Given the description of an element on the screen output the (x, y) to click on. 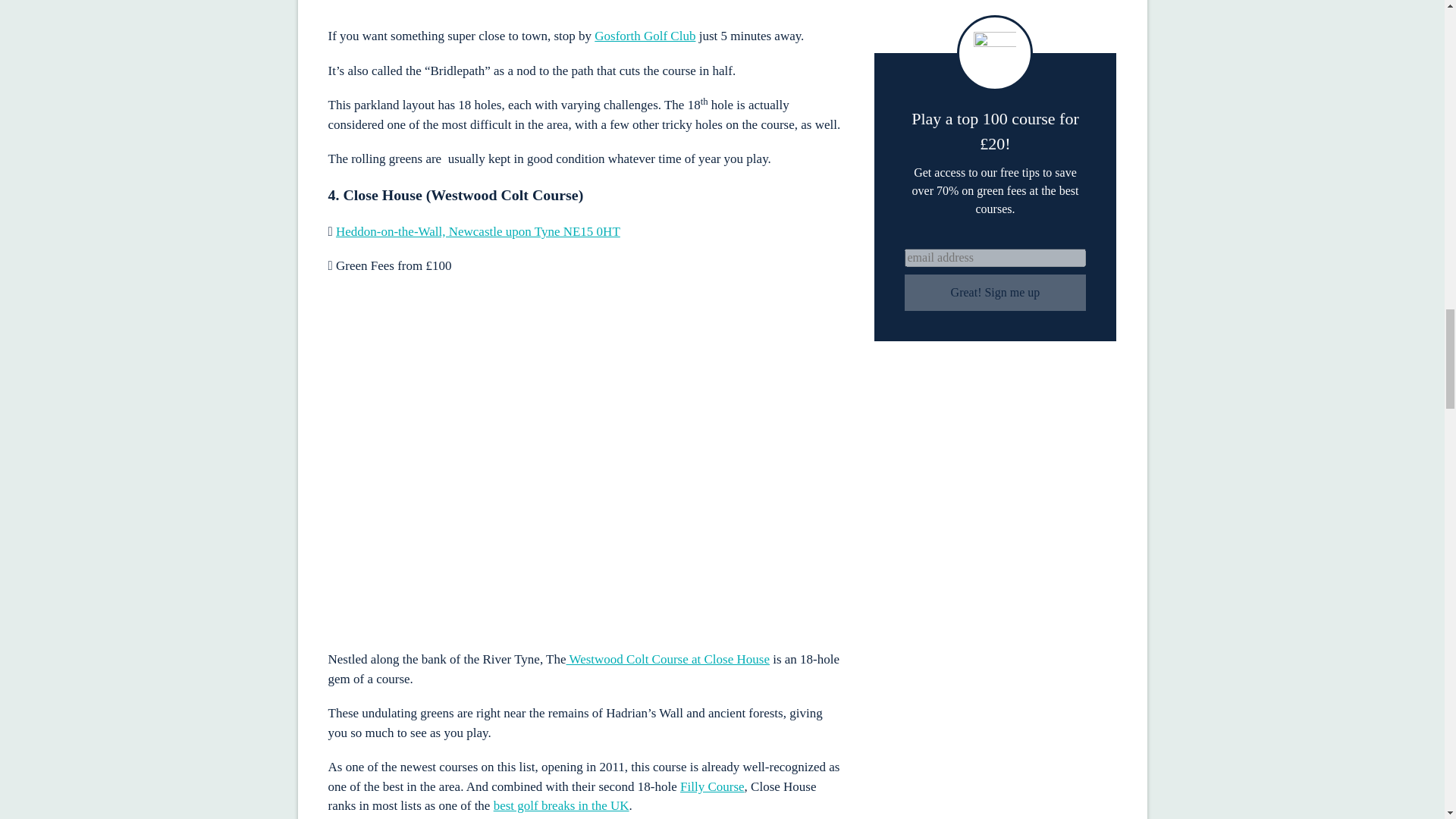
Gosforth Golf Club (644, 35)
Westwood Colt Course at Close House (668, 658)
best golf breaks in the UK (560, 805)
Heddon-on-the-Wall, Newcastle upon Tyne NE15 0HT (478, 231)
Filly Course (711, 786)
